Given the description of an element on the screen output the (x, y) to click on. 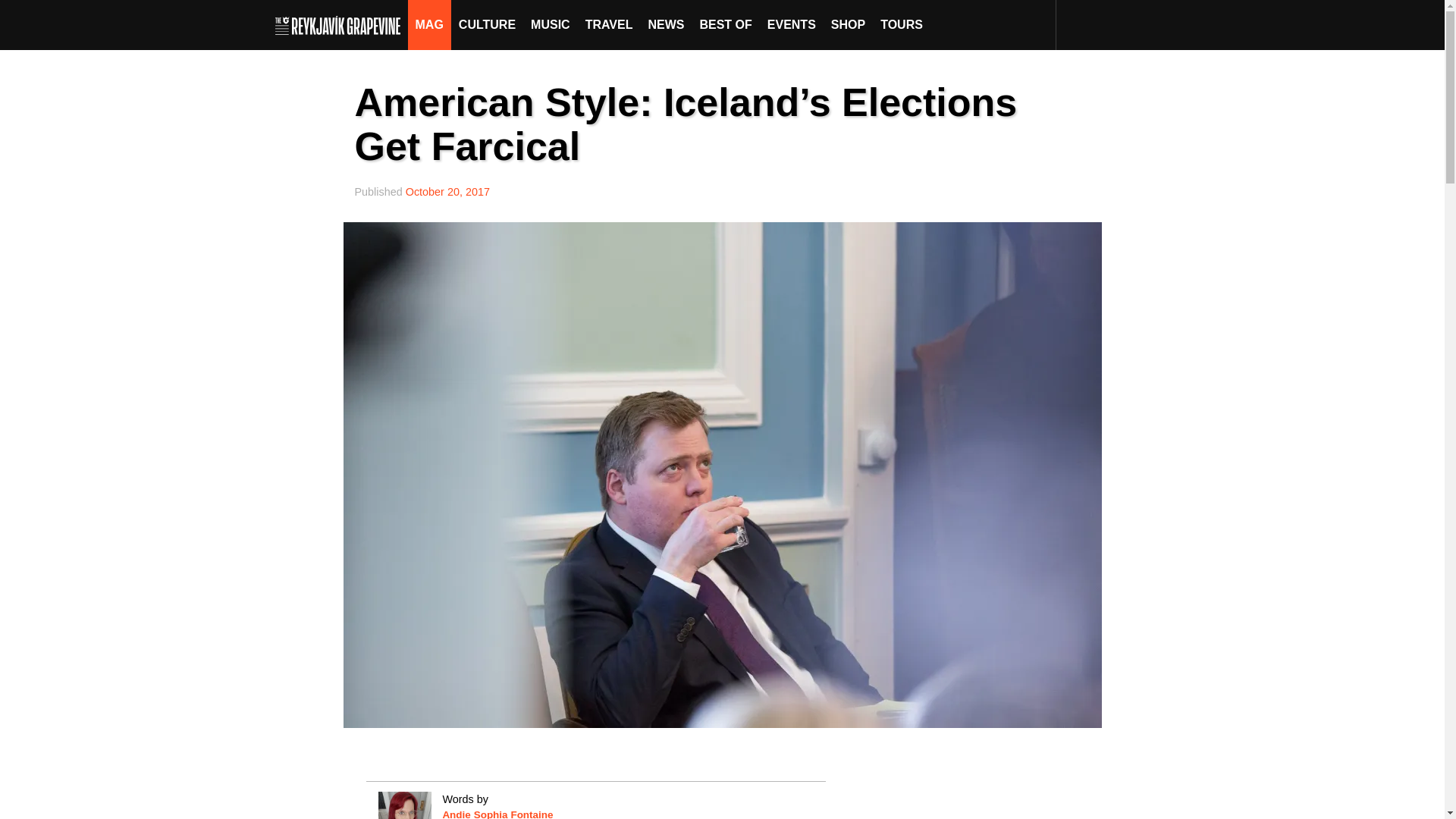
The Reykjavik Grapevine (341, 24)
MUSIC (550, 24)
Posts by Andie Sophia Fontaine (497, 814)
Andie Sophia Fontaine (497, 814)
EVENTS (792, 24)
SHOP (848, 24)
BEST OF (724, 24)
TOURS (901, 24)
NEWS (665, 24)
TRAVEL (609, 24)
